Given the description of an element on the screen output the (x, y) to click on. 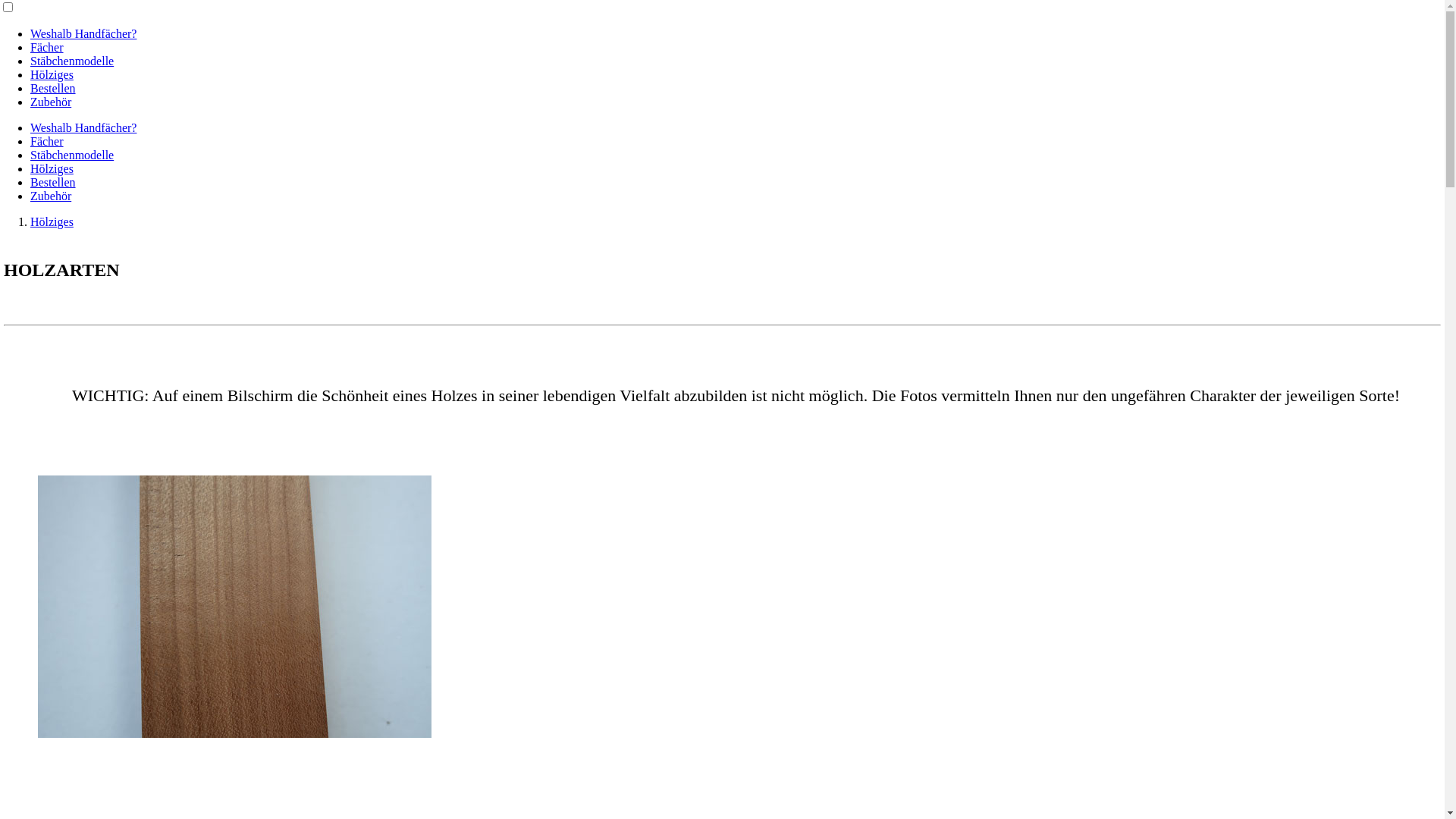
Bestellen Element type: text (52, 87)
Bestellen Element type: text (52, 181)
